Given the description of an element on the screen output the (x, y) to click on. 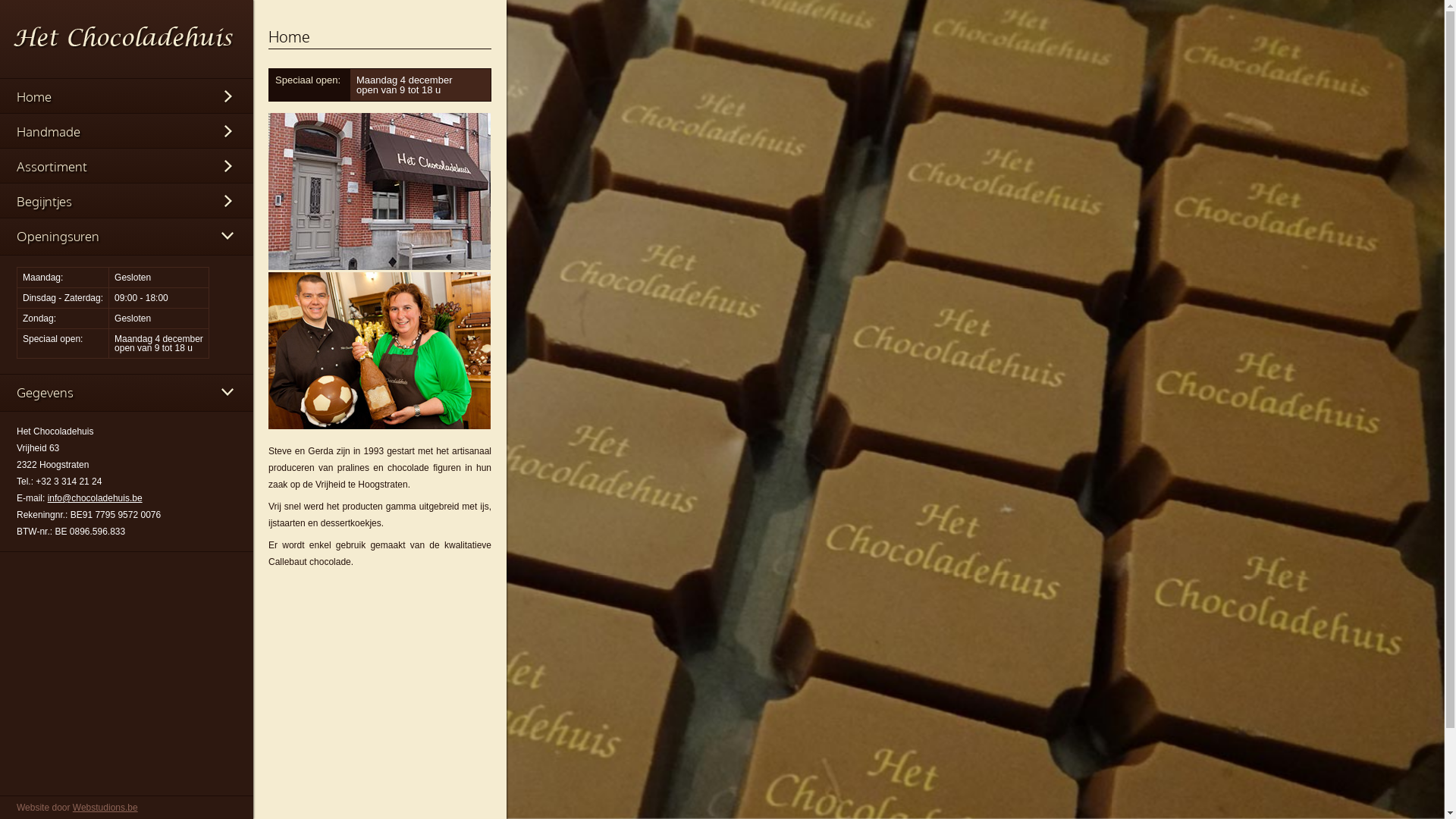
Home Element type: text (126, 96)
Begijntjes Element type: text (126, 201)
Handmade Element type: text (126, 131)
Assortiment Element type: text (126, 166)
Webstudions.be Element type: text (105, 807)
info@chocoladehuis.be Element type: text (94, 497)
info@chocoladehuis.be Element type: text (89, 143)
